Given the description of an element on the screen output the (x, y) to click on. 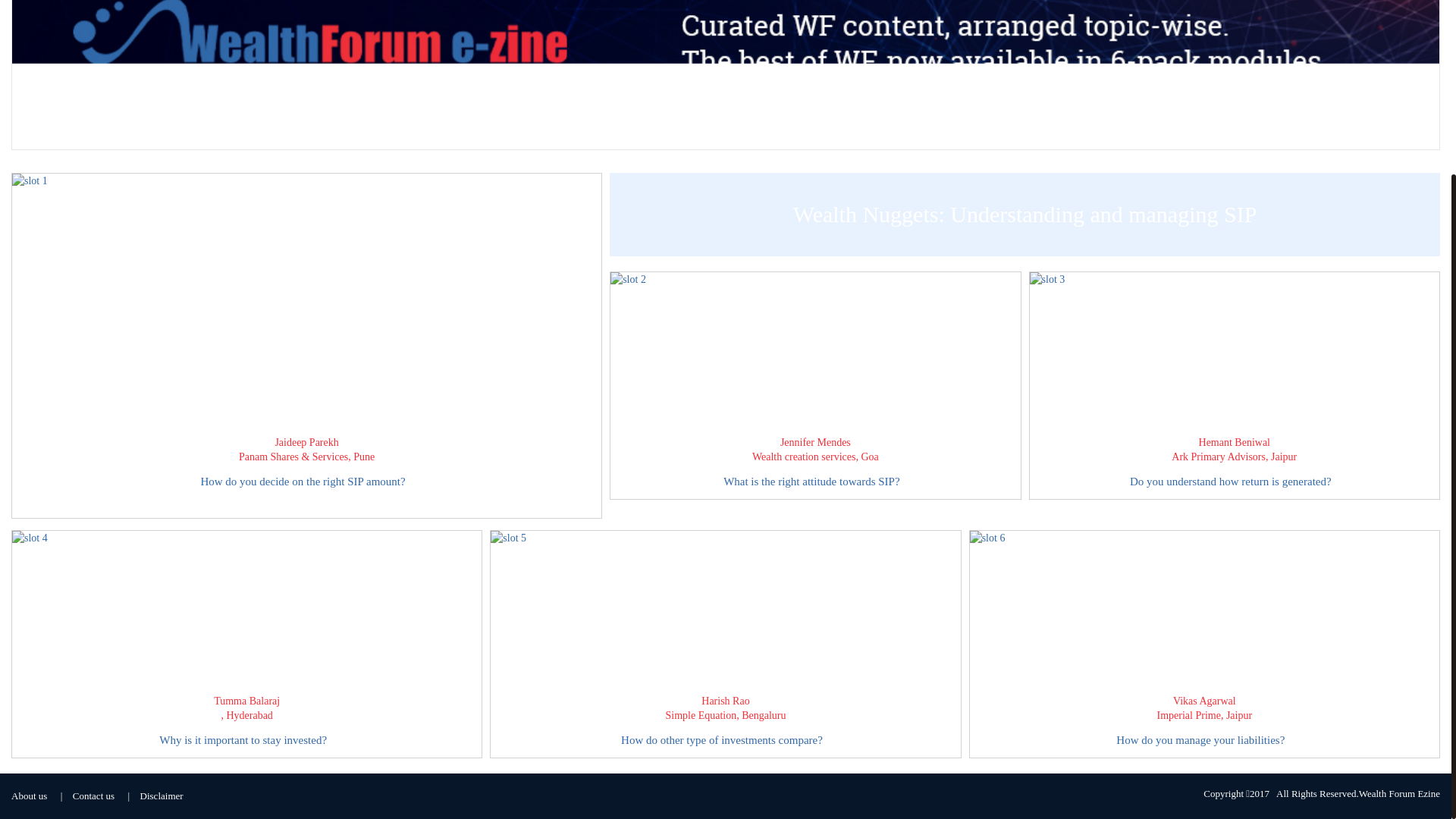
How do you manage your liabilities? (1204, 739)
Why is it important to stay invested? (246, 739)
What is the right attitude towards SIP? (815, 481)
Do you understand how return is generated? (1234, 481)
Contact us (93, 795)
Disclaimer (161, 795)
About us (28, 795)
